Given the description of an element on the screen output the (x, y) to click on. 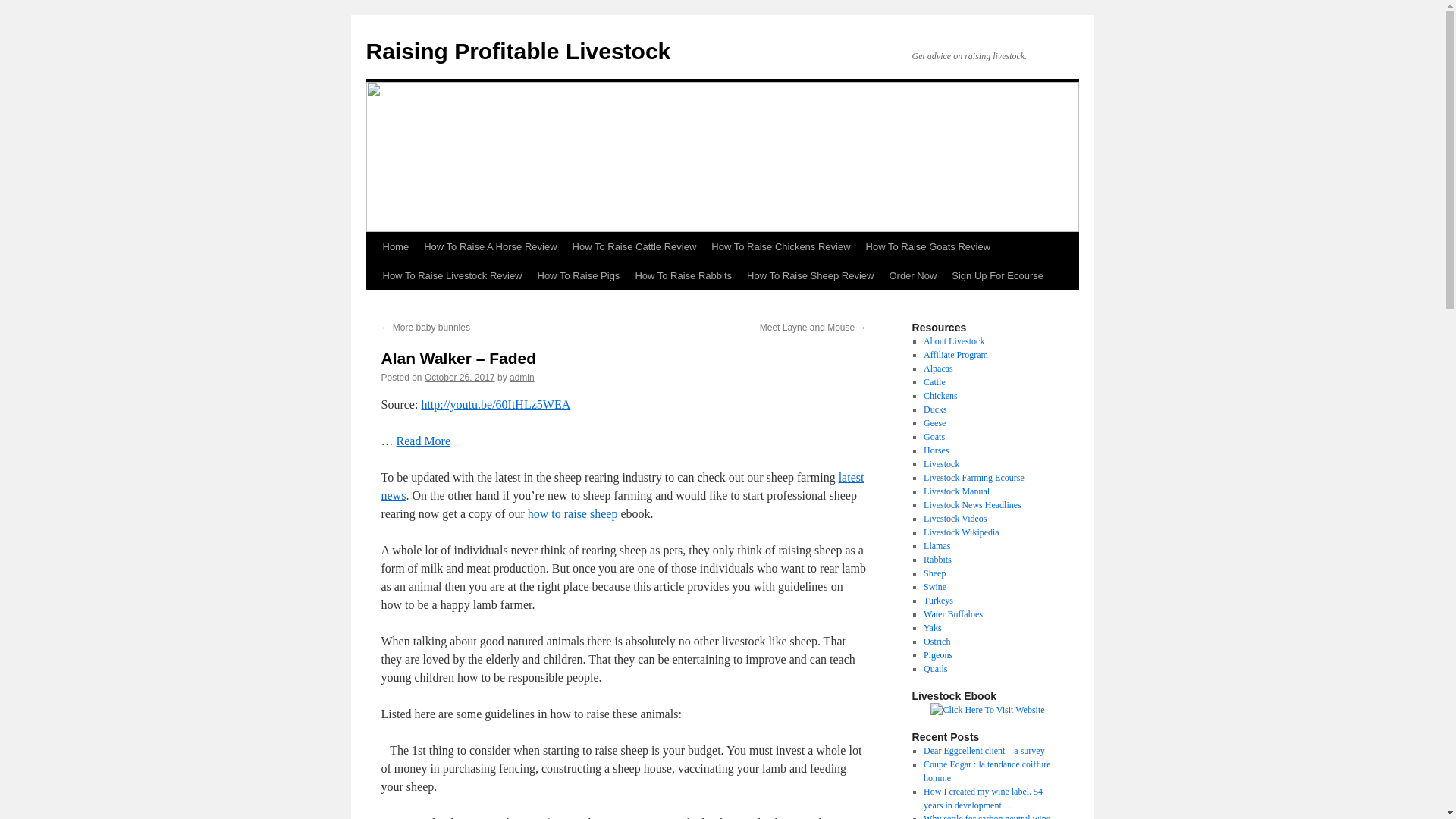
How To Raise Rabbits (683, 275)
latest news (621, 486)
Raising Profitable Livestock (517, 50)
October 26, 2017 (460, 377)
Raising Profitable Livestock (517, 50)
Home (395, 246)
admin (521, 377)
12:00 am (460, 377)
How To Raise Goats Review (928, 246)
How To Raise A Horse Review (490, 246)
